Given the description of an element on the screen output the (x, y) to click on. 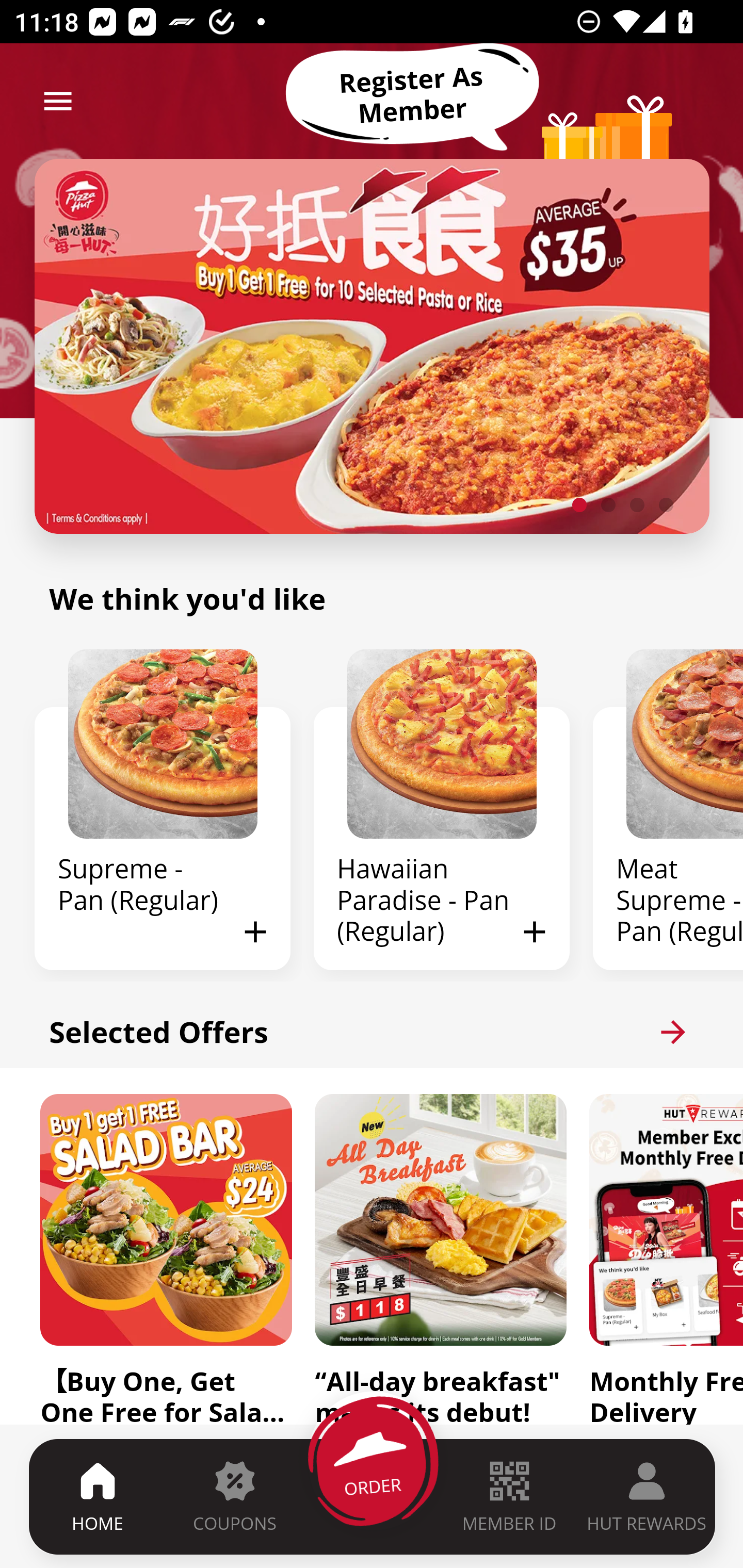
Register As Member (411, 95)
menu (58, 100)
arrow_forward (672, 1031)
HOME (97, 1496)
COUPONS (234, 1496)
ORDER (372, 1496)
MEMBER ID (509, 1496)
HUT REWARDS (647, 1496)
